Given the description of an element on the screen output the (x, y) to click on. 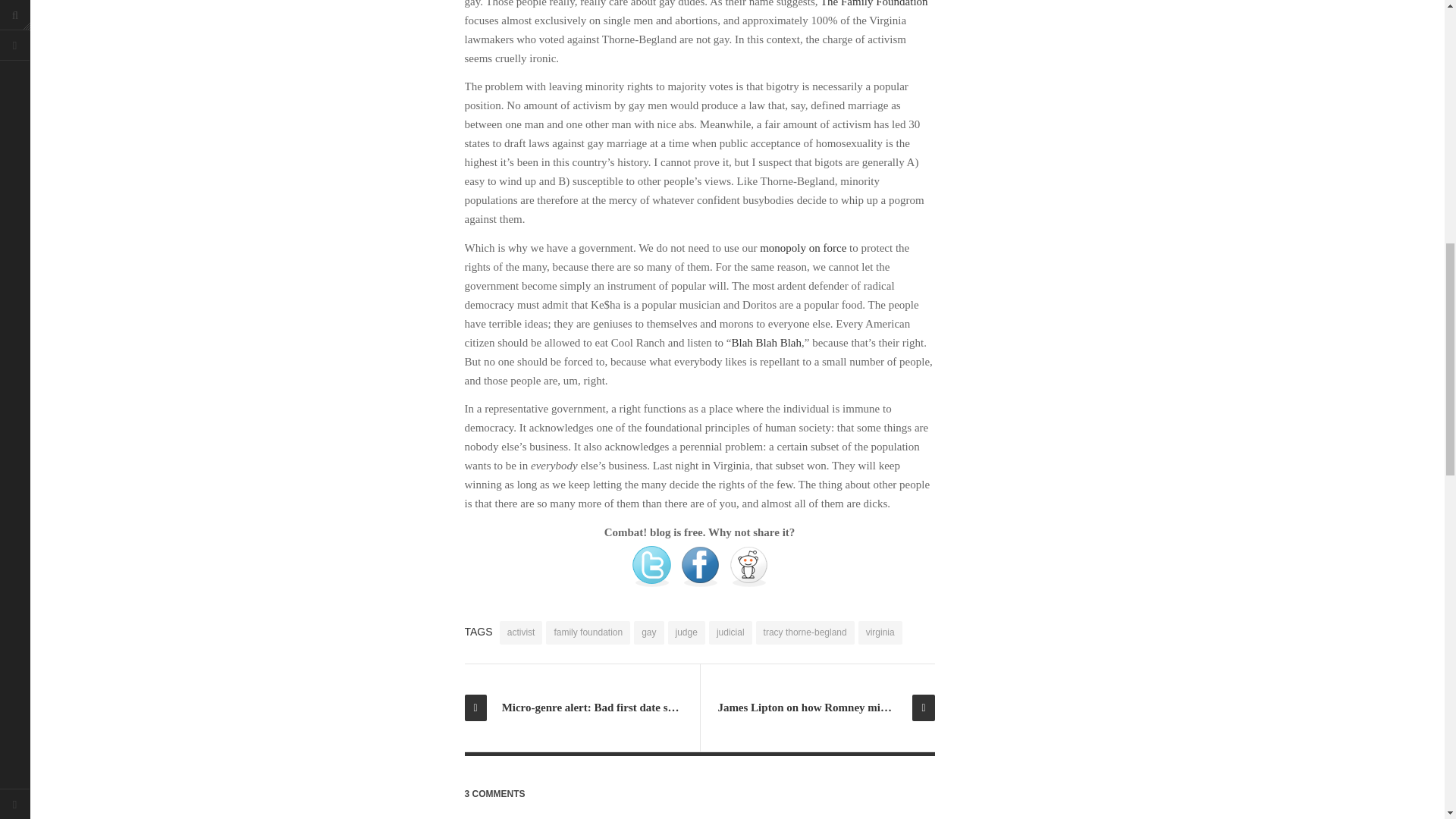
activist (521, 631)
The Family Foundation (874, 3)
Twitter (650, 565)
Reddit (747, 565)
Blah Blah Blah (766, 342)
Facebook (699, 565)
judge (686, 631)
judicial (730, 631)
tracy thorne-begland (804, 631)
family foundation (588, 631)
